Given the description of an element on the screen output the (x, y) to click on. 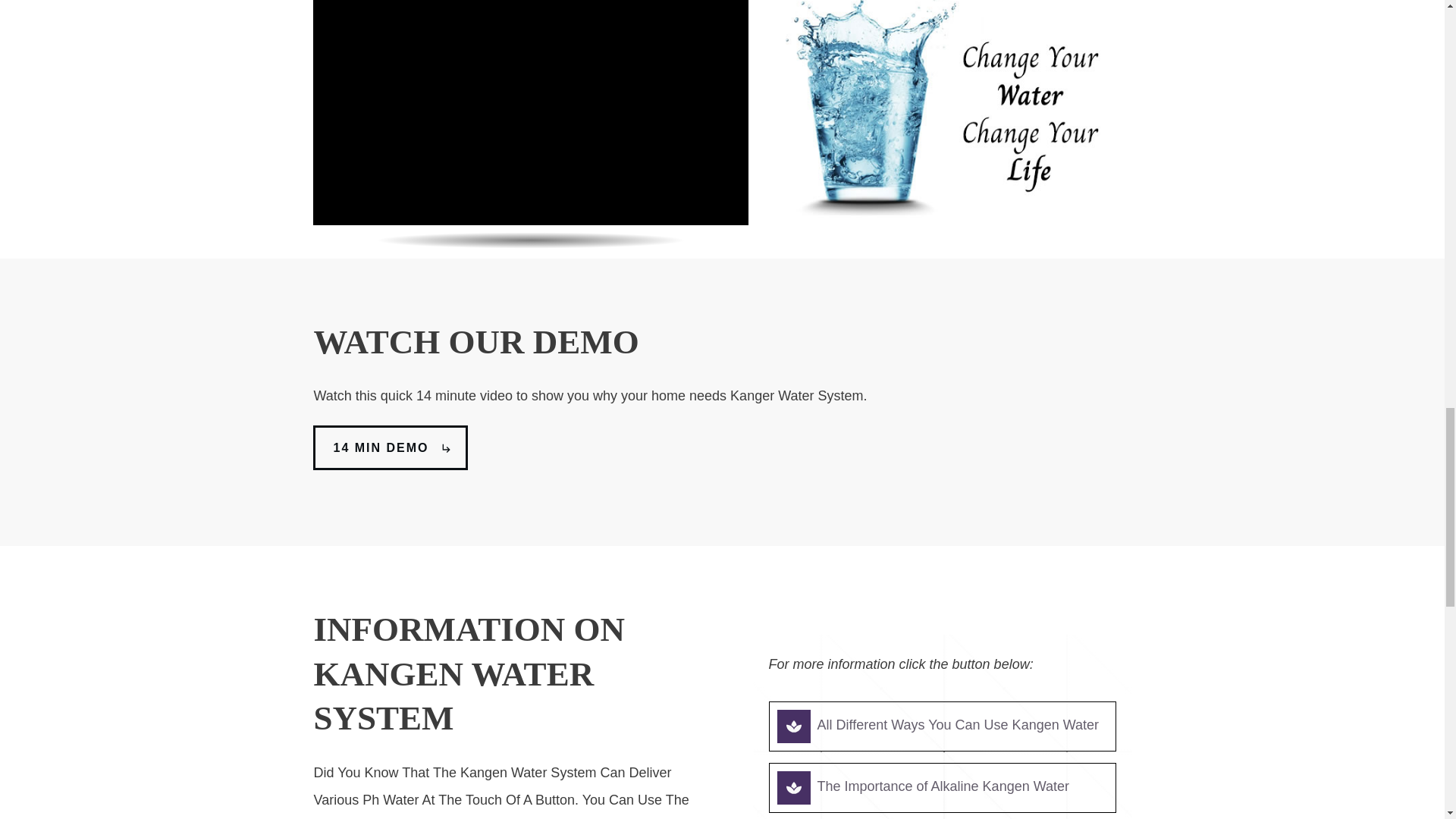
The Importance of Alkaline Kangen Water (943, 785)
14 MIN DEMO (390, 447)
All Different Ways You Can Use Kangen Water (957, 724)
Responsive Video (531, 112)
